Given the description of an element on the screen output the (x, y) to click on. 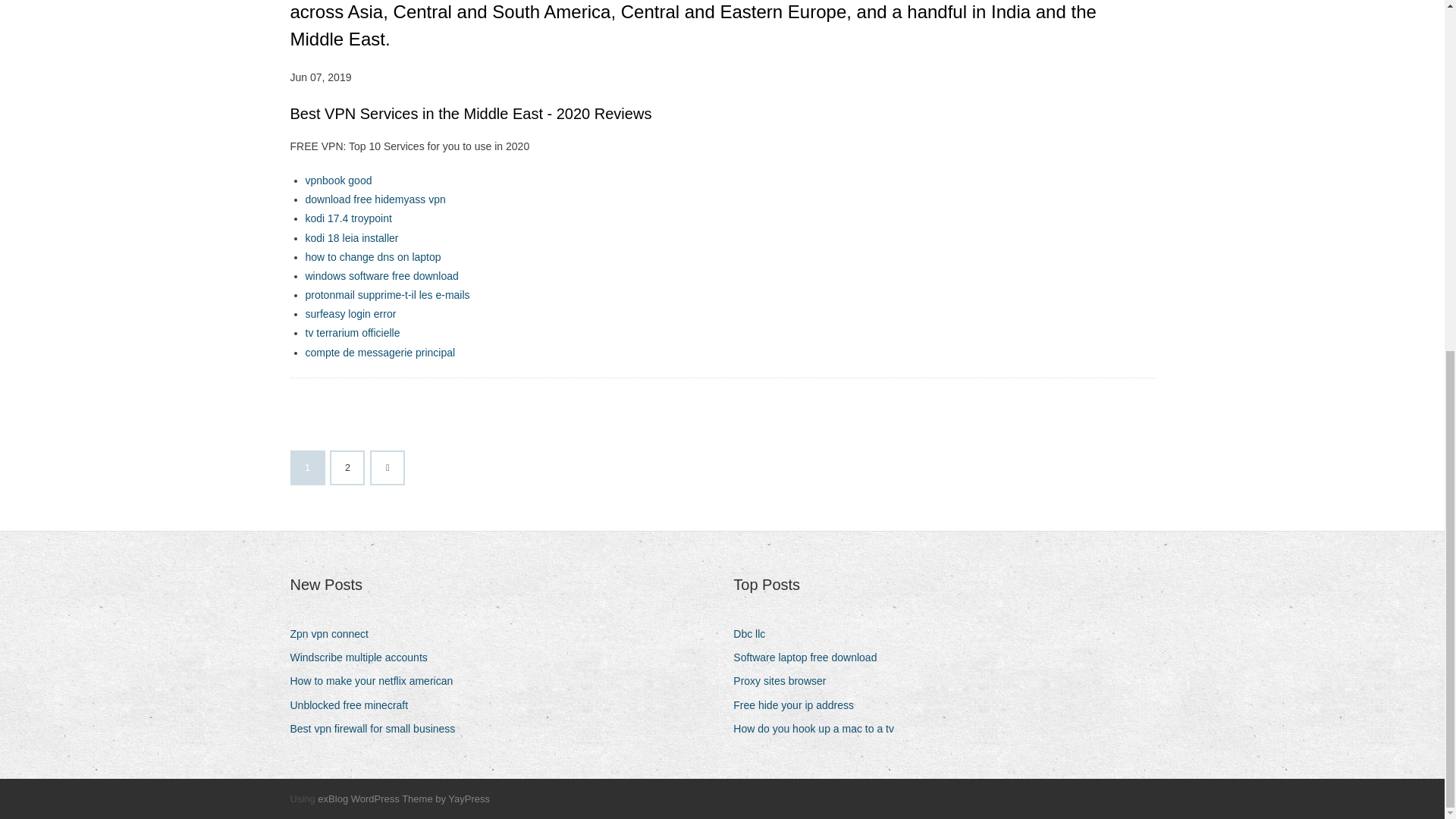
download free hidemyass vpn (374, 199)
Zpn vpn connect (334, 634)
exBlog WordPress Theme by YayPress (403, 798)
protonmail supprime-t-il les e-mails (386, 295)
Unblocked free minecraft (354, 705)
Proxy sites browser (785, 680)
kodi 17.4 troypoint (347, 218)
tv terrarium officielle (351, 332)
Free hide your ip address (798, 705)
windows software free download (381, 275)
